Given the description of an element on the screen output the (x, y) to click on. 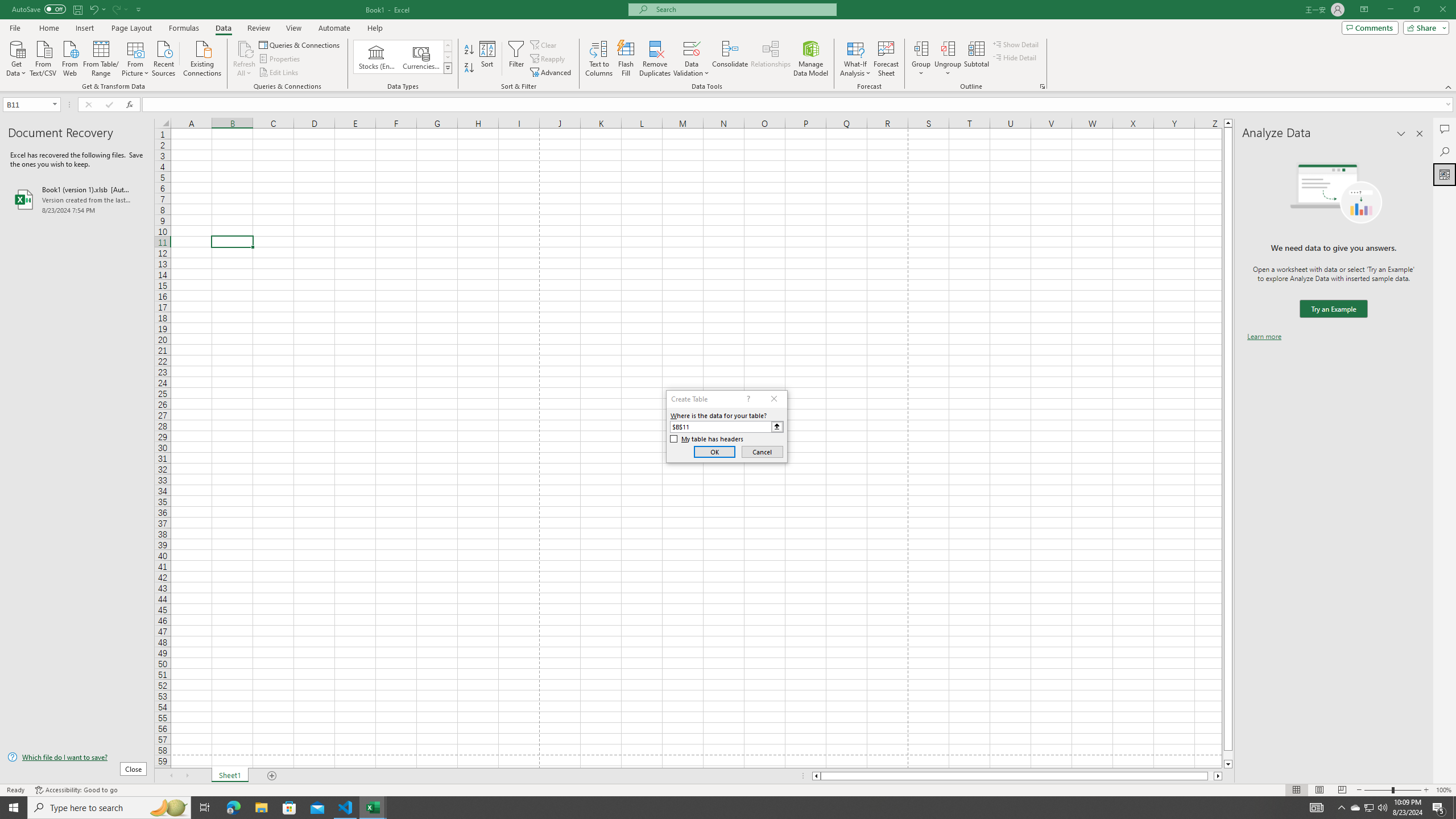
Consolidate... (729, 58)
